Given the description of an element on the screen output the (x, y) to click on. 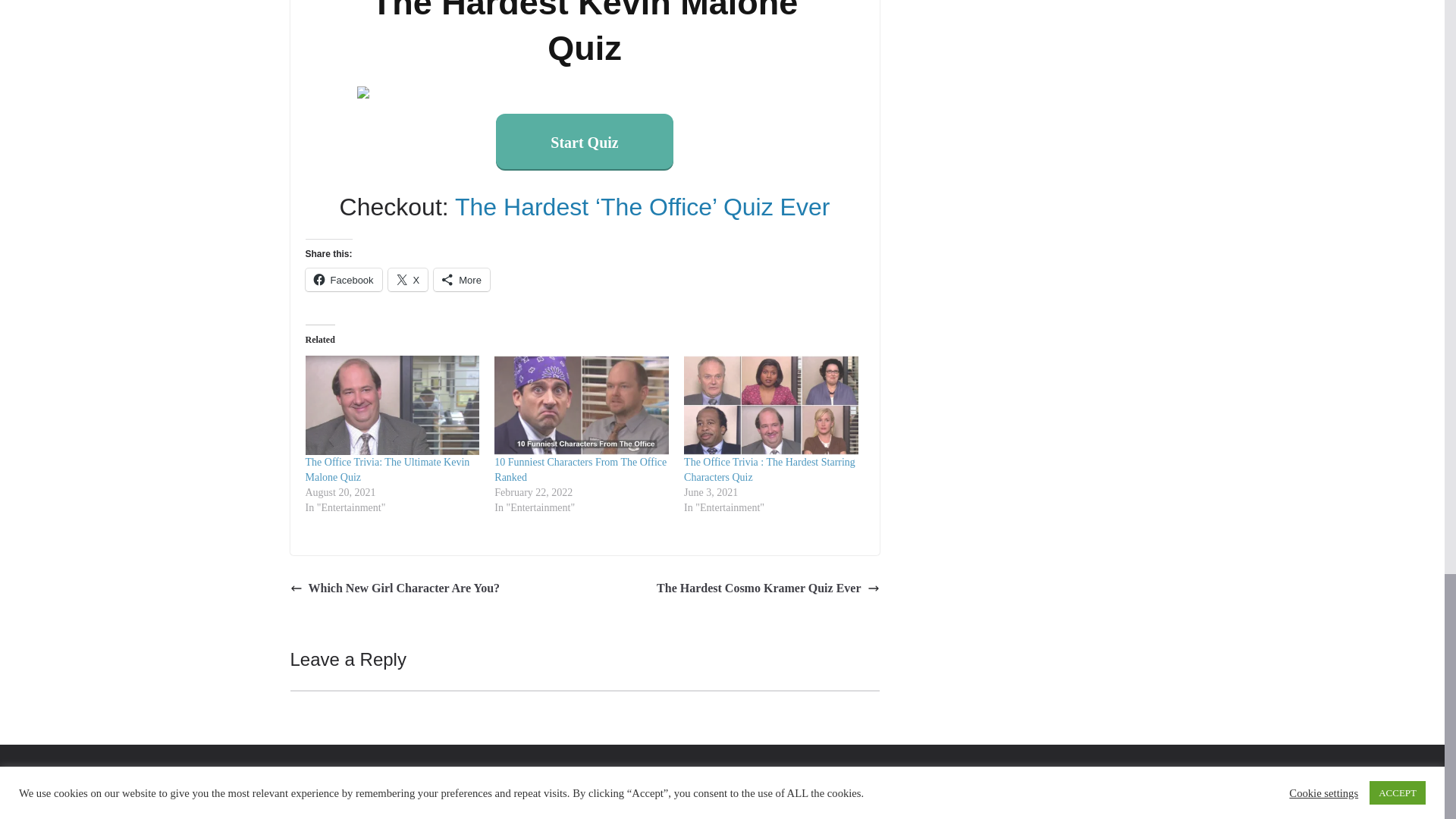
10 Funniest Characters From The Office Ranked (580, 469)
Start Quiz (584, 140)
The Hardest Cosmo Kramer Quiz Ever (767, 588)
Facebook (342, 279)
The Office Trivia : The Hardest Starring Characters Quiz (770, 469)
Which New Girl Character Are You? (394, 588)
More (461, 279)
The Office Trivia: The Ultimate Kevin Malone Quiz (386, 469)
Click to share on Facebook (342, 279)
X (408, 279)
